Given the description of an element on the screen output the (x, y) to click on. 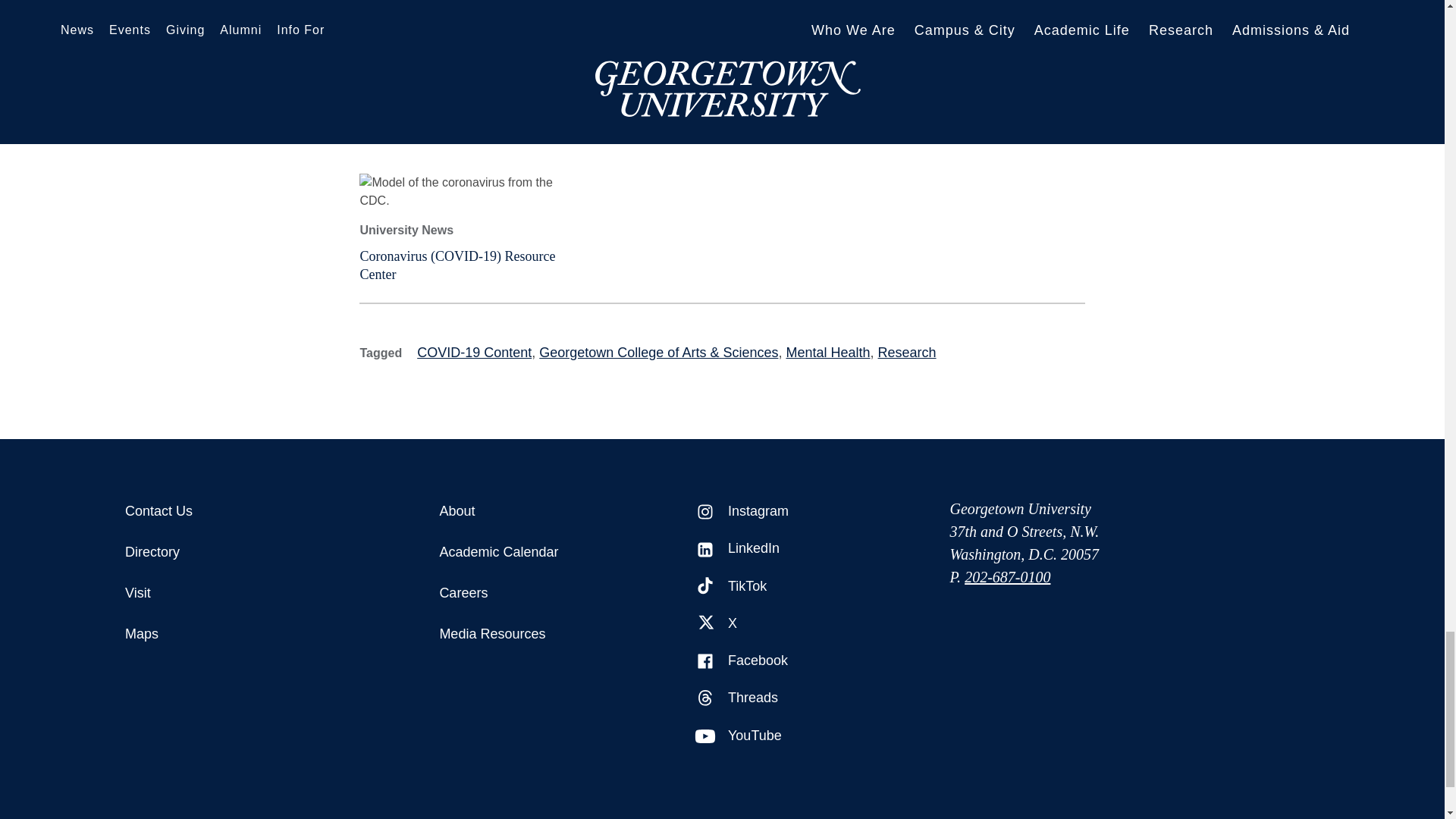
LinkedIn (705, 549)
Instagram (705, 511)
Threads (705, 698)
YouTube (705, 735)
Facebook (705, 661)
TikTok (705, 586)
X (705, 623)
